Given the description of an element on the screen output the (x, y) to click on. 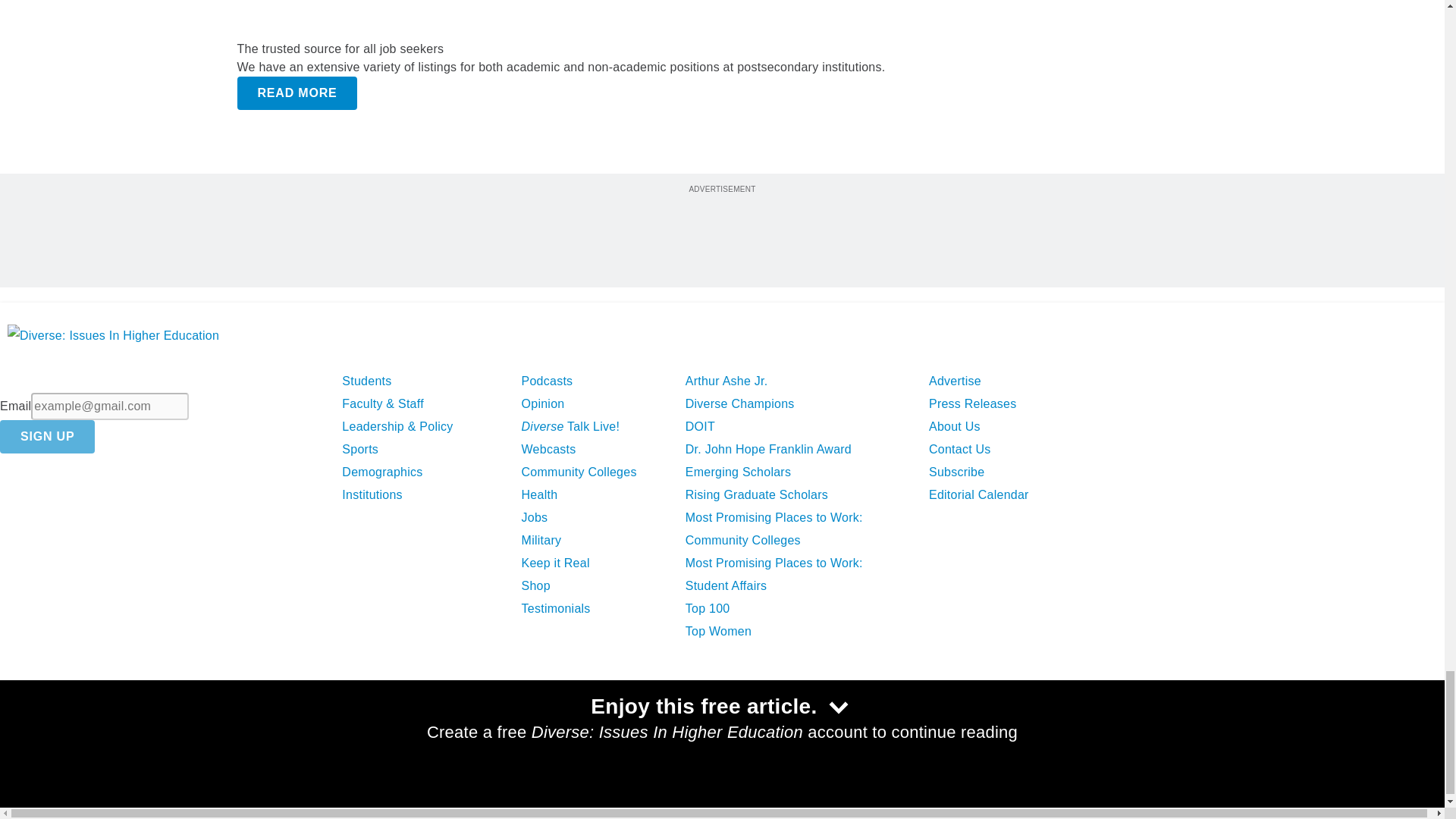
Facebook icon (20, 733)
Instagram icon (179, 733)
LinkedIn icon (102, 733)
YouTube icon (141, 733)
Twitter X icon (60, 733)
